Given the description of an element on the screen output the (x, y) to click on. 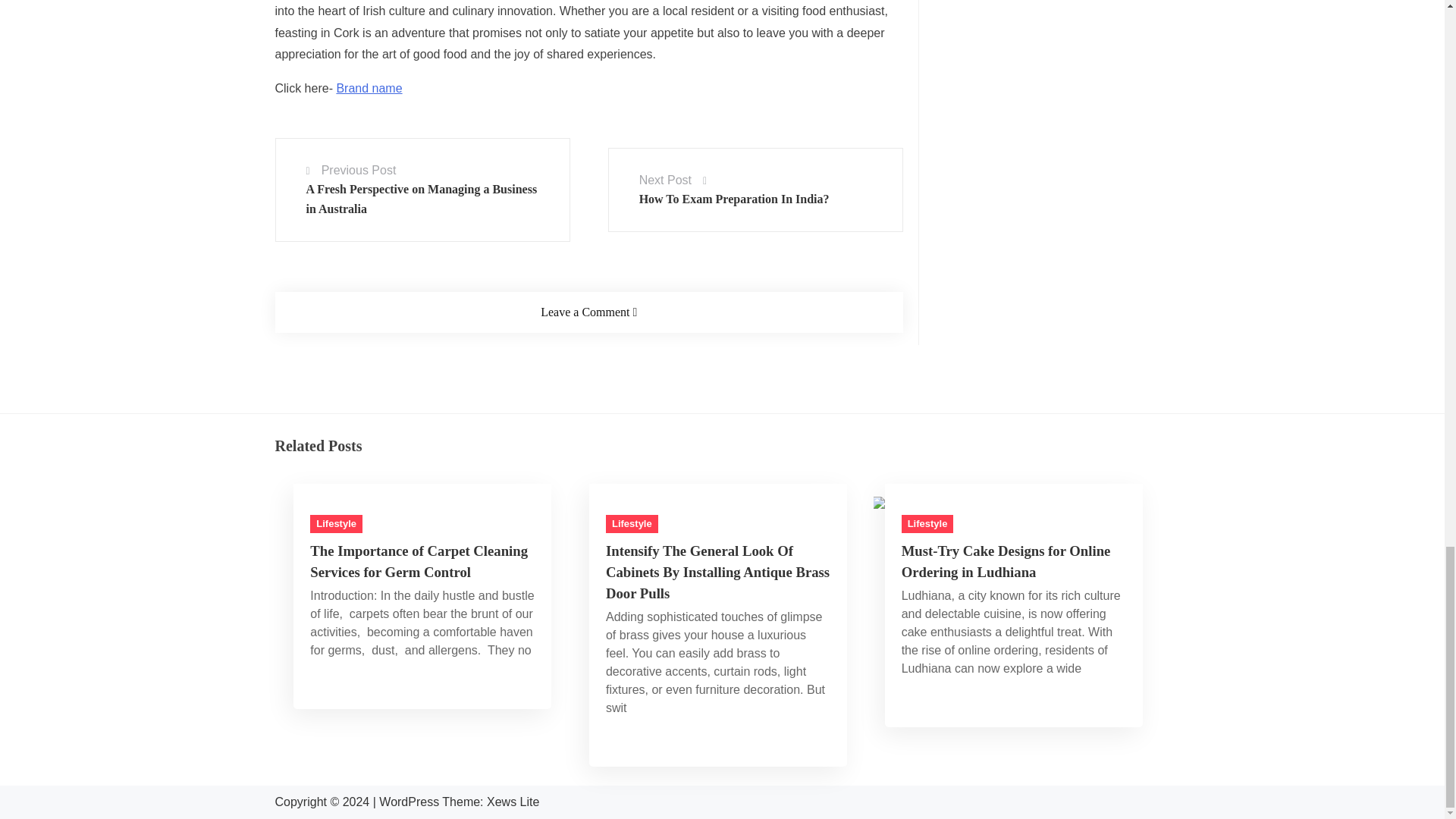
Next Post (665, 179)
Brand name (368, 88)
How To Exam Preparation In India? (734, 198)
Must-Try Cake Designs for Online Ordering in Ludhiana (951, 502)
Previous Post (358, 169)
A Fresh Perspective on Managing a Business in Australia (421, 198)
